Given the description of an element on the screen output the (x, y) to click on. 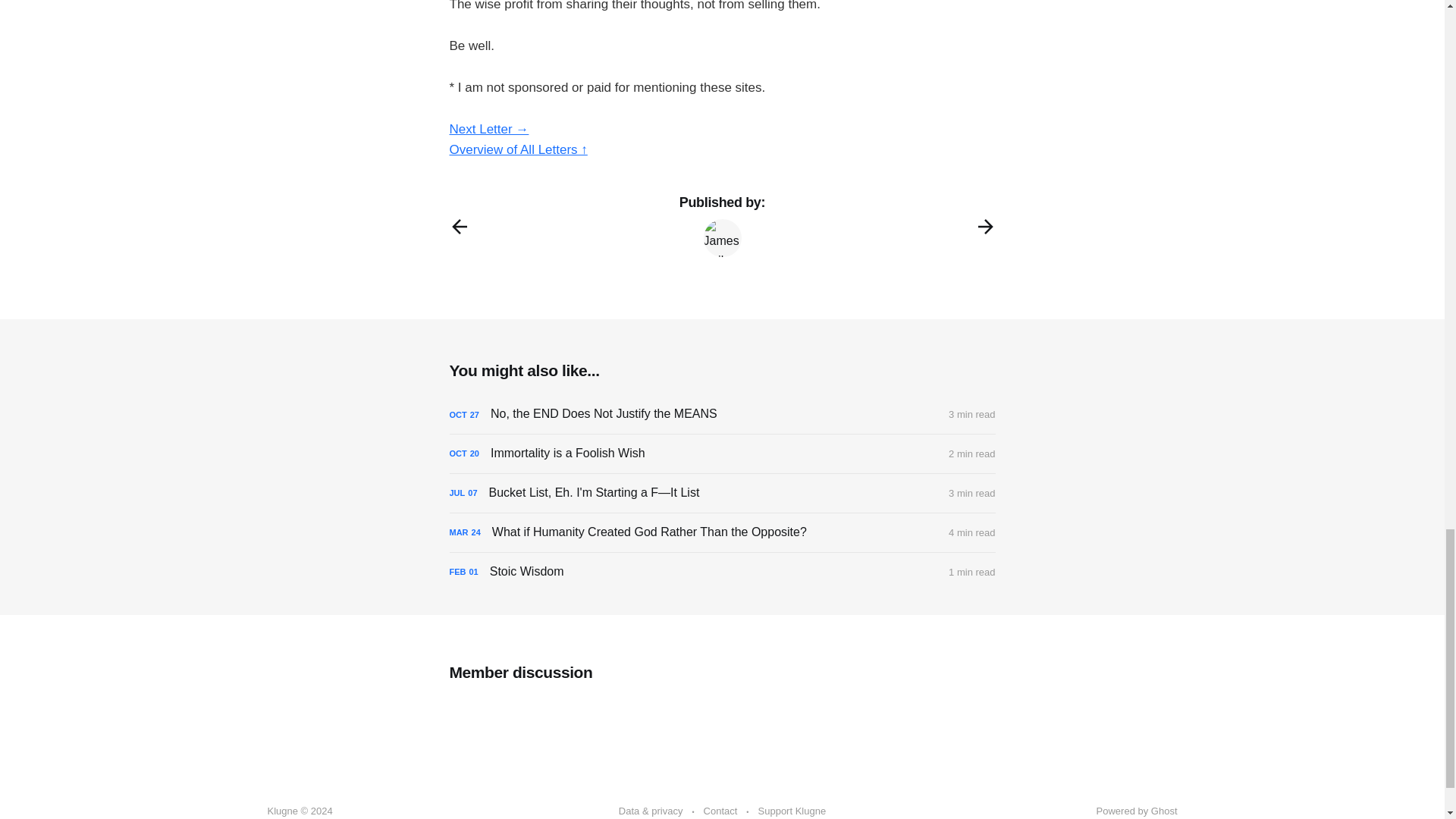
Powered by Ghost (1136, 810)
Support Klugne (792, 811)
Contact (720, 811)
